Given the description of an element on the screen output the (x, y) to click on. 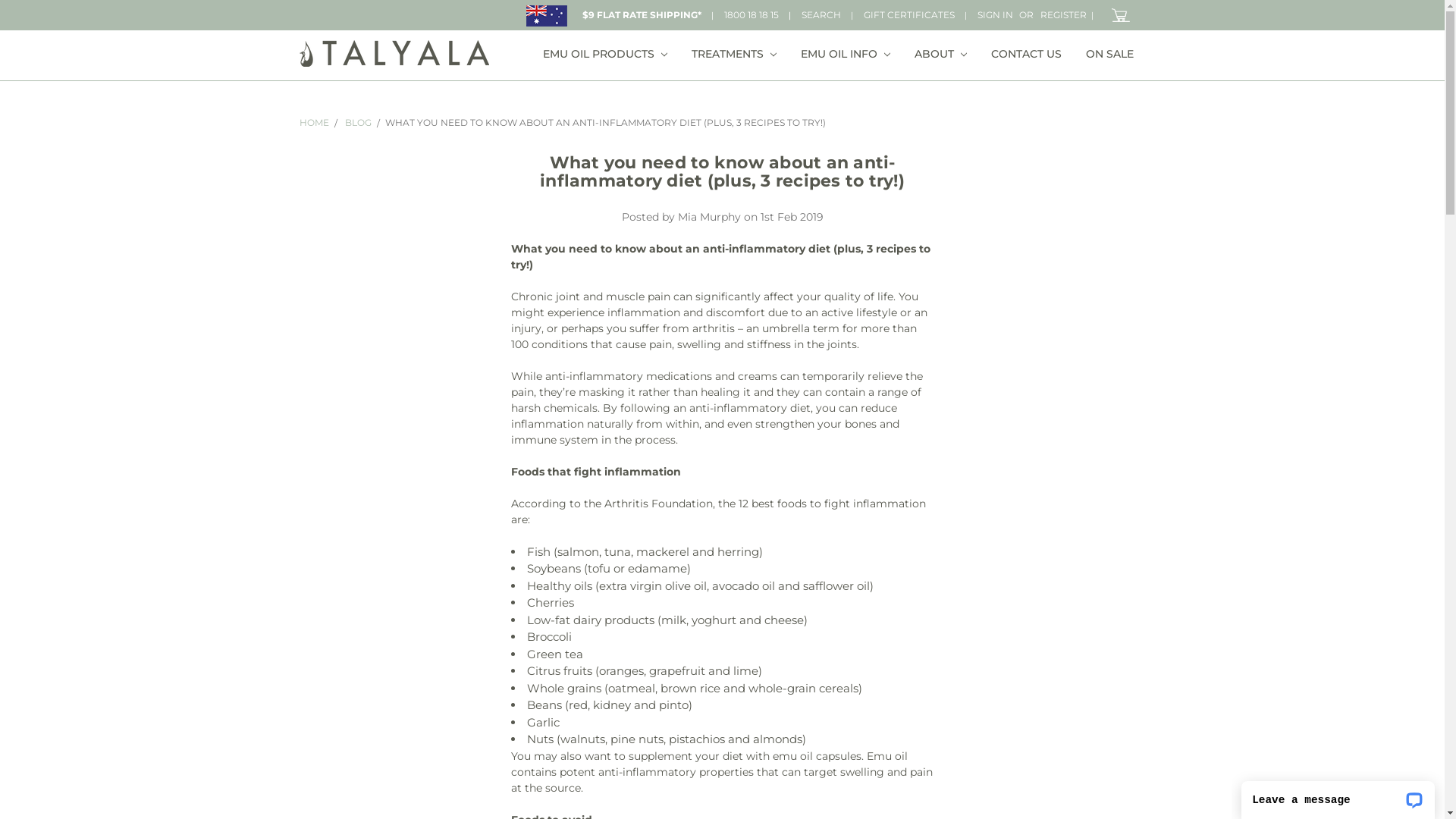
EMU OIL INFO Element type: text (845, 55)
GIFT CERTIFICATES Element type: text (909, 15)
HOME Element type: text (313, 122)
SIGN IN Element type: text (995, 15)
BLOG Element type: text (357, 122)
REGISTER Element type: text (1062, 15)
ON SALE Element type: text (1109, 55)
EMU OIL PRODUCTS Element type: text (604, 55)
CONTACT US Element type: text (1025, 55)
ABOUT Element type: text (940, 55)
SEARCH Element type: text (821, 15)
TREATMENTS Element type: text (733, 55)
Talyala Emu Oil Element type: hover (393, 52)
